Given the description of an element on the screen output the (x, y) to click on. 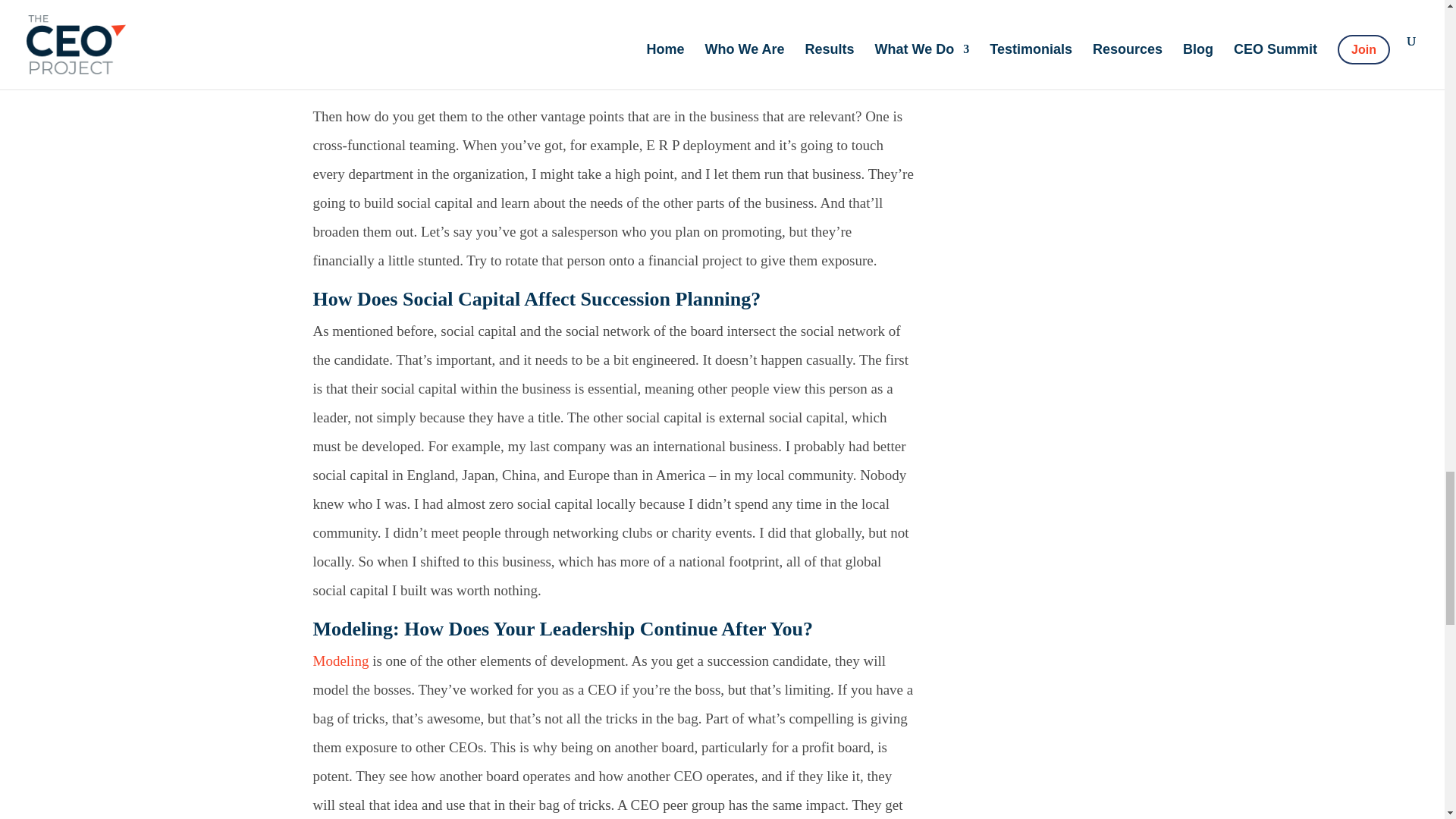
Modeling (340, 660)
